Given the description of an element on the screen output the (x, y) to click on. 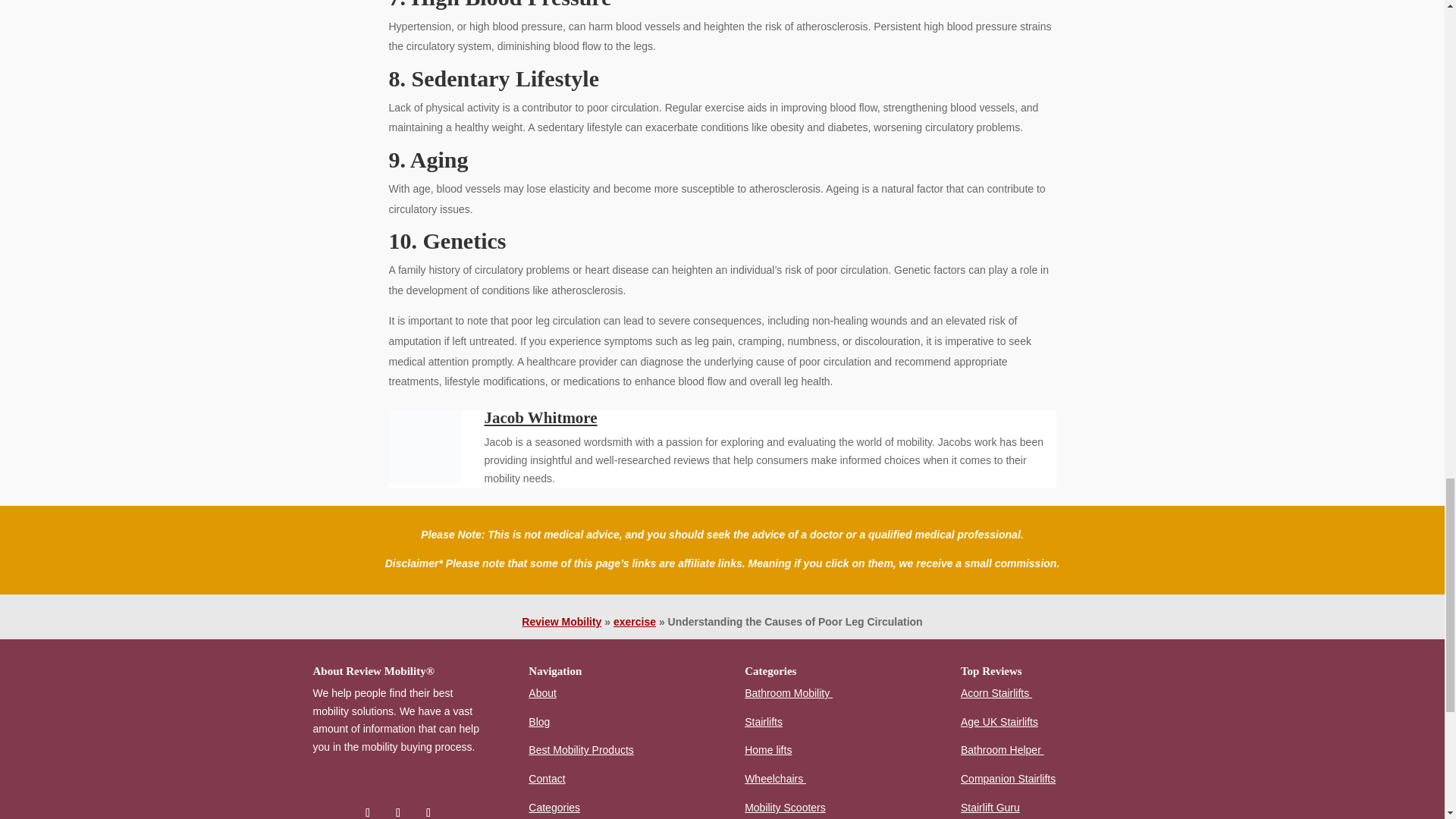
exercise (634, 621)
Follow on X (397, 809)
Follow on Facebook (367, 809)
Review Mobility (561, 621)
Follow on Instagram (428, 809)
